Given the description of an element on the screen output the (x, y) to click on. 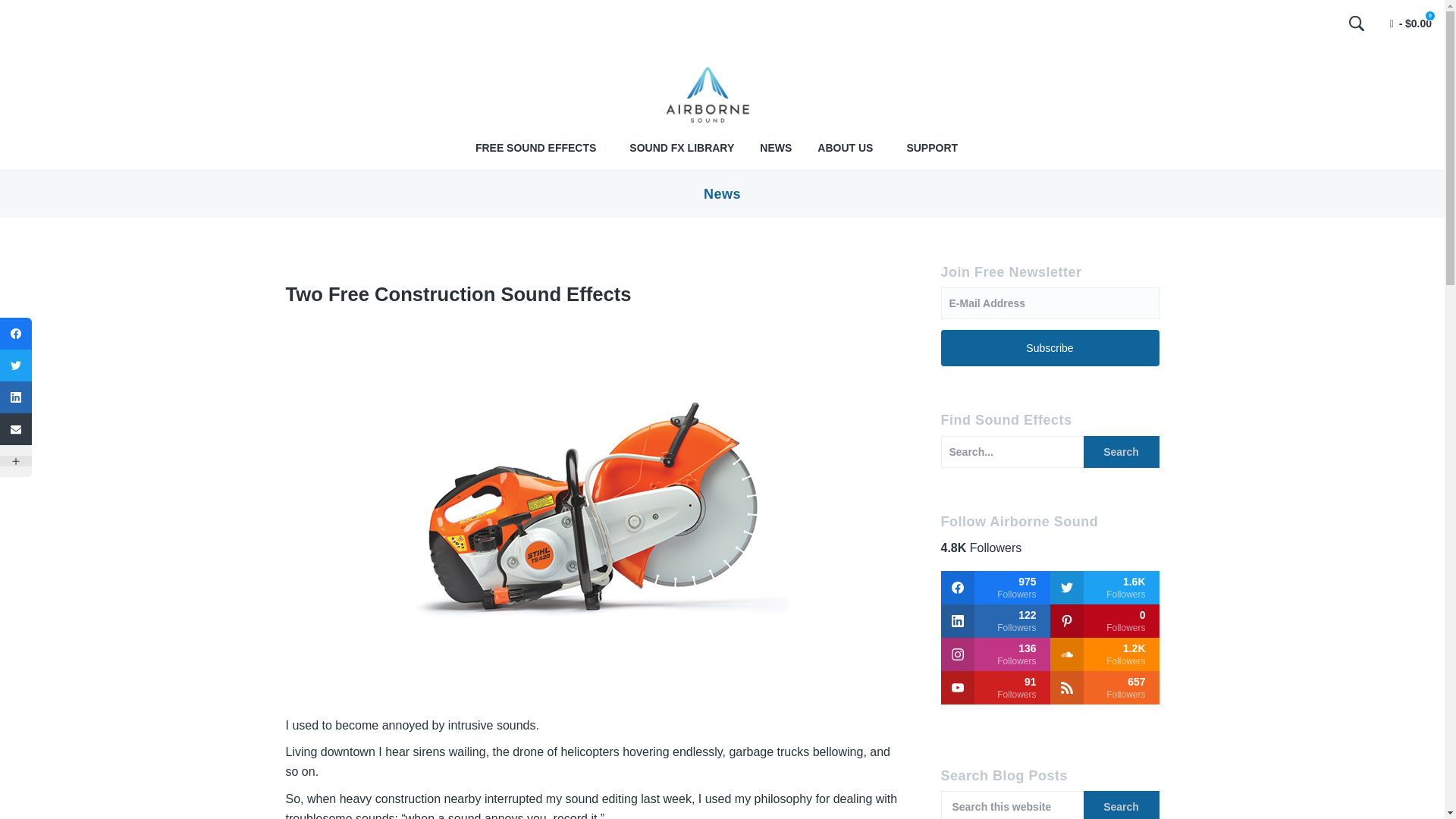
Subscribe (1049, 348)
SOUND FX LIBRARY (680, 148)
Start shopping (1410, 23)
FREE SOUND EFFECTS (535, 148)
Search (37, 15)
Search (1120, 451)
ABOUT US (844, 148)
Search (1356, 22)
Search (1120, 805)
SUPPORT (931, 148)
Search (1120, 451)
Search (1120, 805)
NEWS (776, 148)
